Given the description of an element on the screen output the (x, y) to click on. 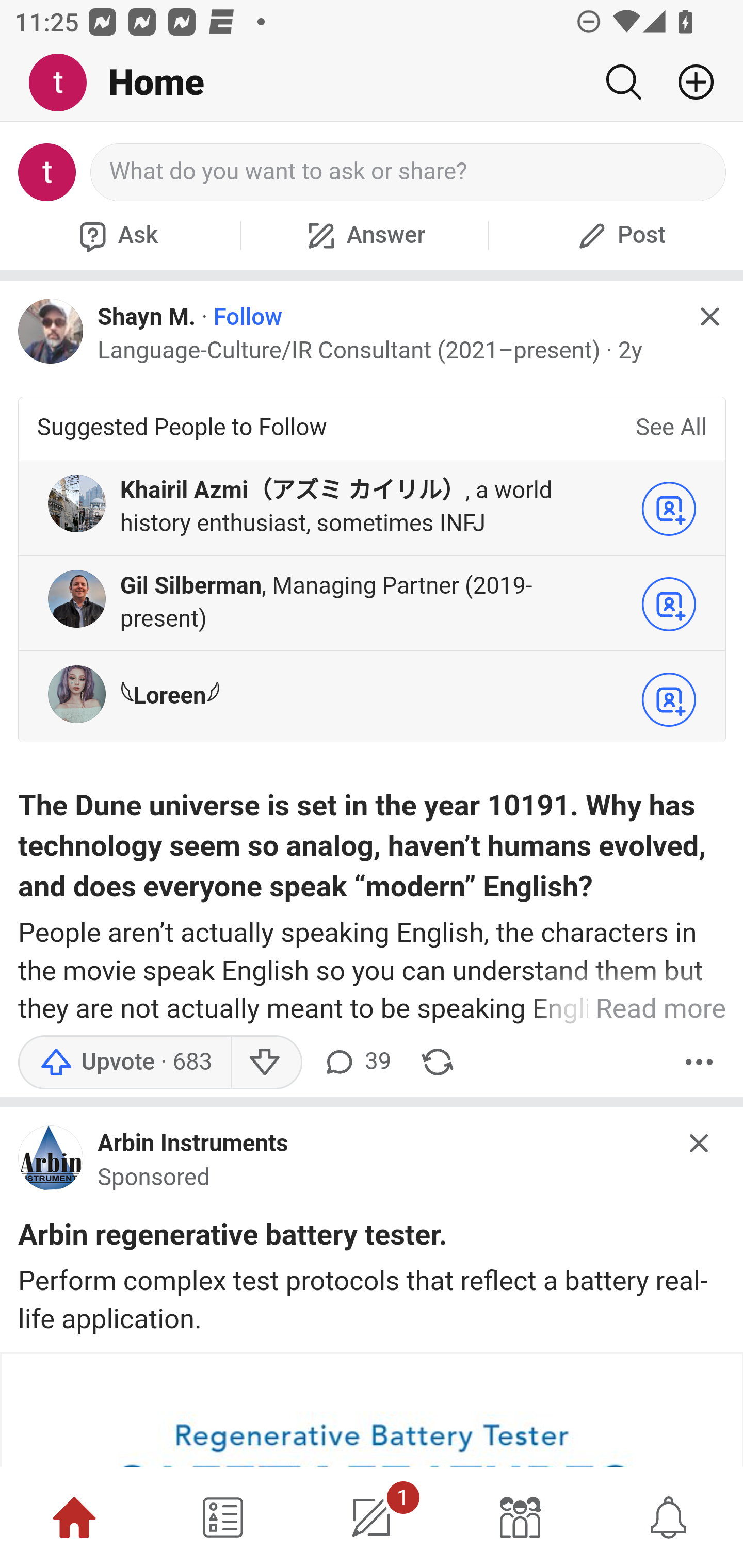
Me (64, 83)
Search (623, 82)
Add (688, 82)
What do you want to ask or share? (408, 172)
Ask (116, 234)
Answer (364, 234)
Post (618, 234)
Hide (709, 316)
Profile photo for Shayn M. (50, 330)
Shayn M. (146, 316)
Follow (248, 316)
See All (670, 428)
Profile photo for Khairil Azmi（アズミ カイリル） (76, 503)
Khairil Azmi（アズミ カイリル） (291, 490)
Follow Khairil Azmi（アズミ カイリル） (668, 508)
Profile photo for Gil Silberman (76, 598)
Gil Silberman (190, 586)
Follow Gil Silberman (668, 604)
Profile photo for 𓆩Loreen𓆪 (76, 694)
Follow 𓆩Loreen𓆪 (668, 699)
𓆩Loreen𓆪 (169, 695)
Upvote (124, 1061)
Downvote (266, 1061)
39 comments (356, 1061)
Share (437, 1061)
More (699, 1061)
Hide (699, 1143)
main-qimg-e3204e8ac522f2bc4d03db14dfcf0739 (50, 1161)
Arbin Instruments (193, 1144)
Sponsored (154, 1176)
Arbin regenerative battery tester. (232, 1237)
1 (371, 1517)
